Given the description of an element on the screen output the (x, y) to click on. 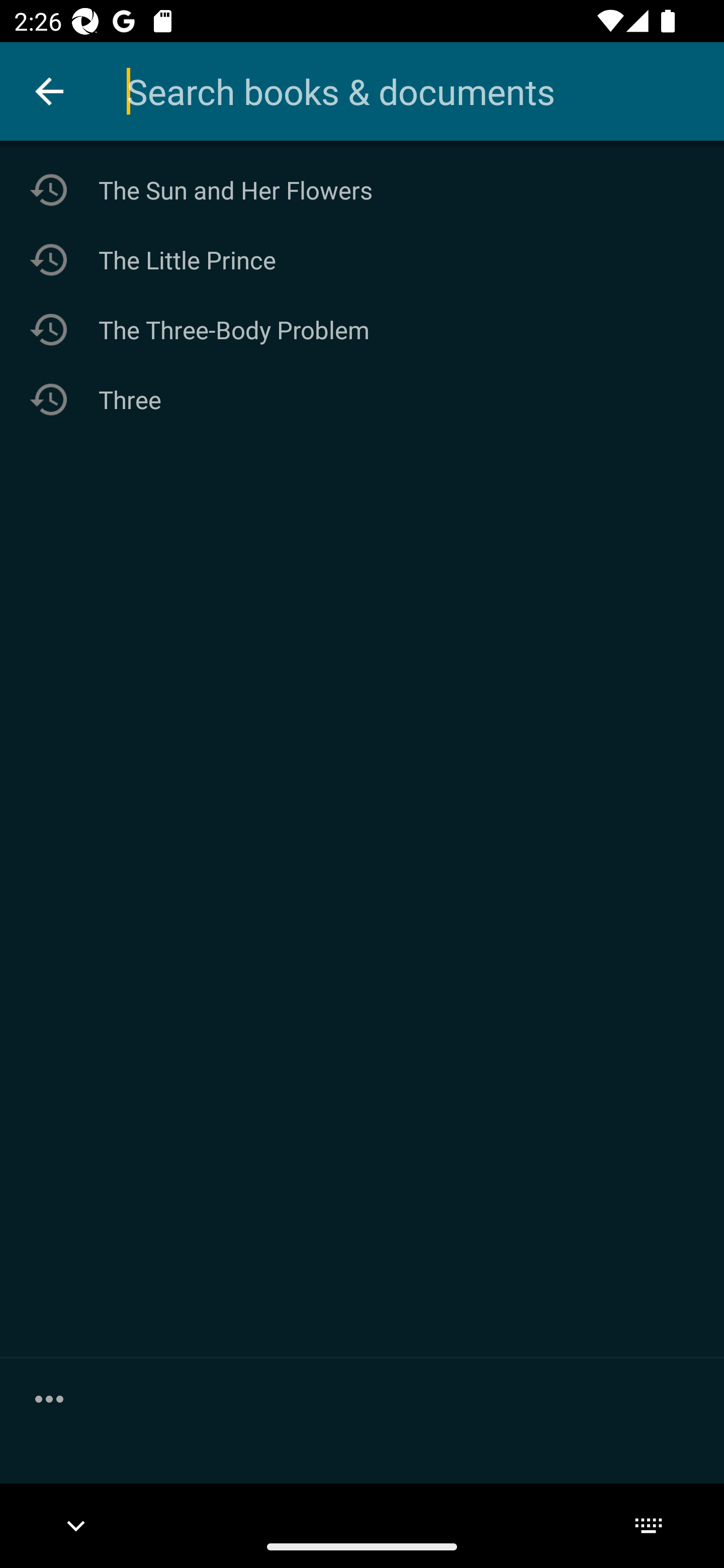
Back (49, 91)
Search books & documents (425, 91)
The Sun and Her Flowers (362, 190)
The Little Prince (362, 259)
The Three-Body Problem (362, 329)
Three (362, 398)
Clear history (49, 1398)
